Given the description of an element on the screen output the (x, y) to click on. 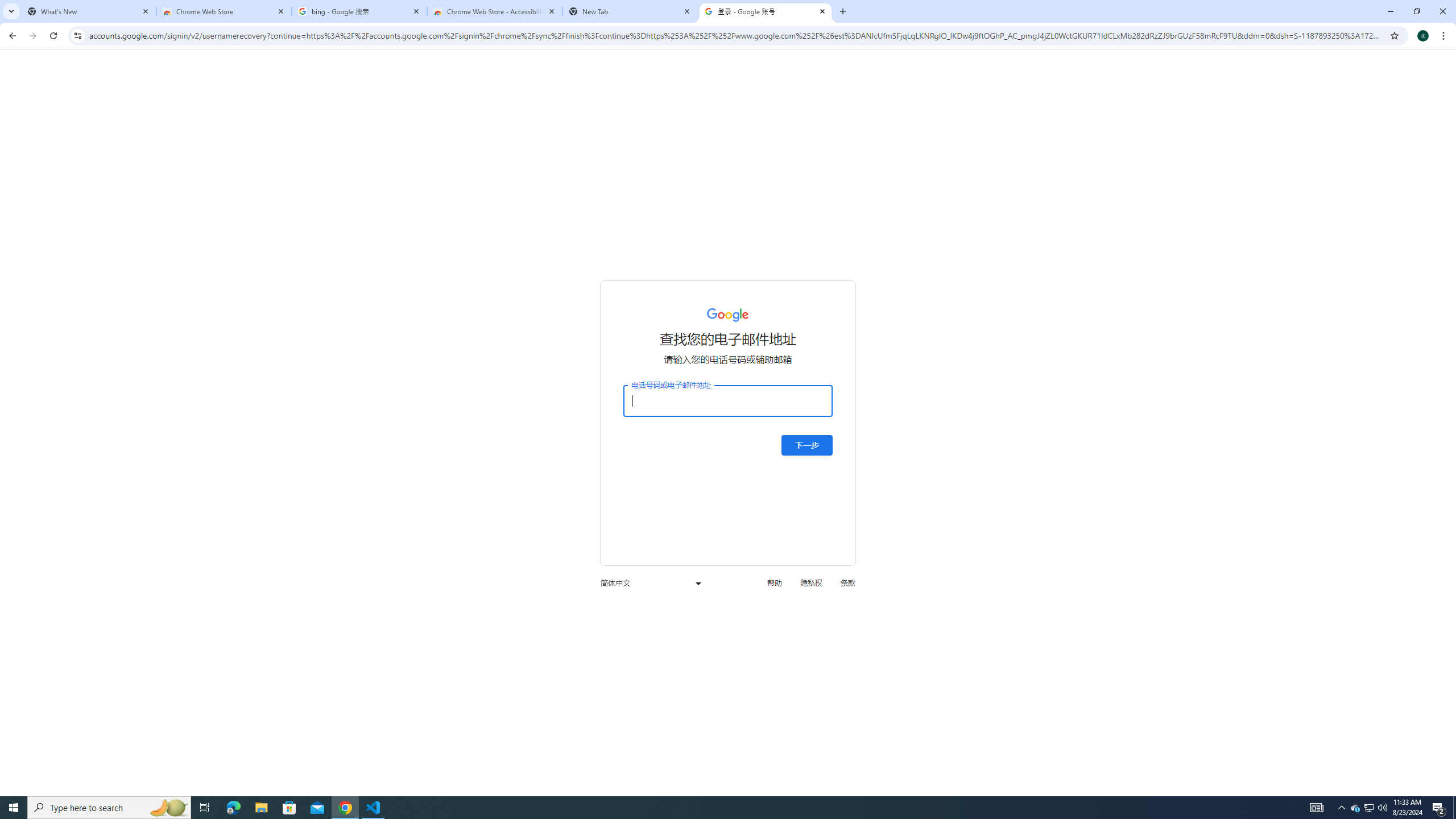
Language (364, 92)
Block Authors (1283, 77)
Convert with Options... (594, 112)
Previous (1152, 91)
Accessibility Assistant (1439, 182)
